Given the description of an element on the screen output the (x, y) to click on. 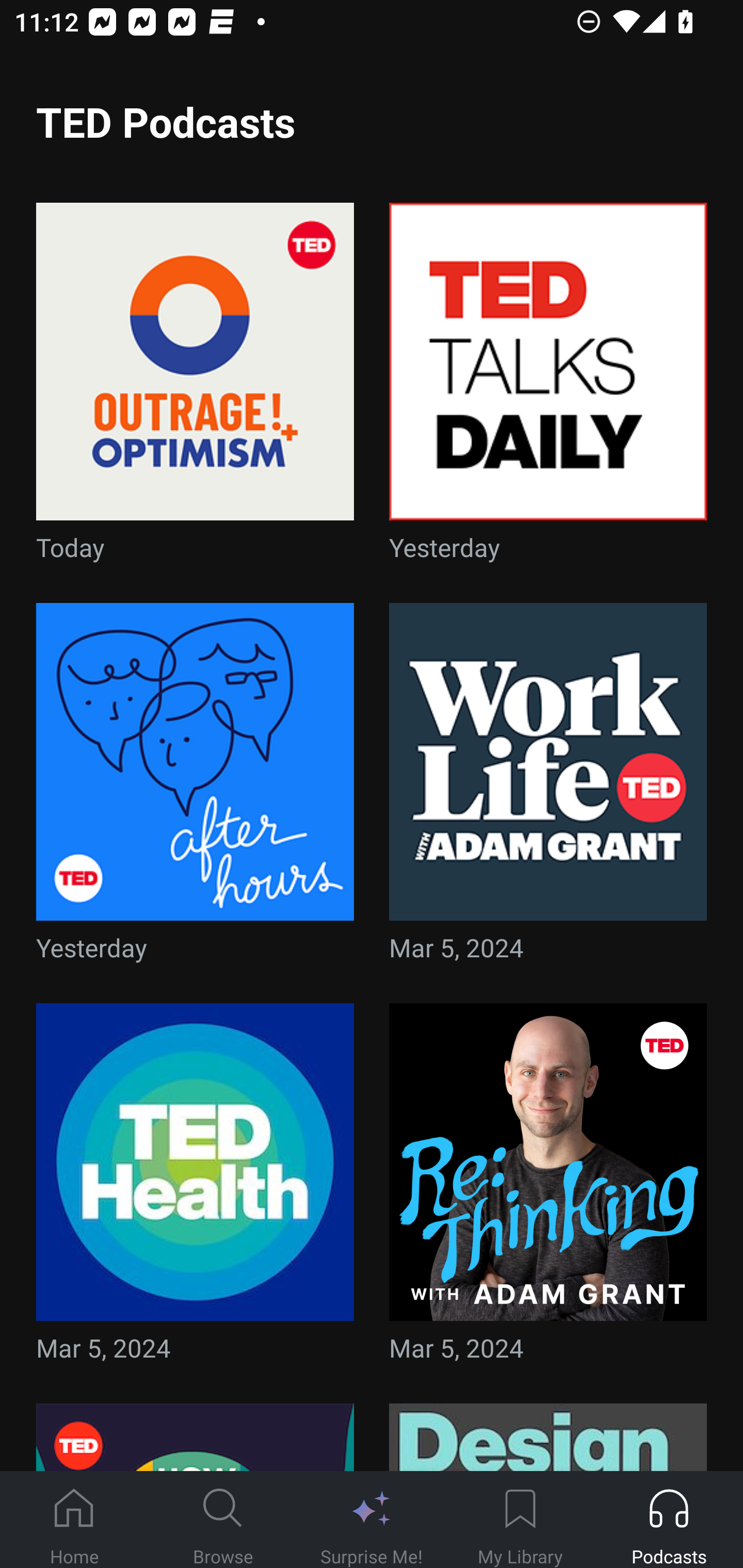
Today (194, 387)
Yesterday (547, 387)
Yesterday (194, 788)
Mar 5, 2024 (547, 788)
Mar 5, 2024 (194, 1189)
Mar 5, 2024 (547, 1189)
Home (74, 1520)
Browse (222, 1520)
Surprise Me! (371, 1520)
My Library (519, 1520)
Podcasts (668, 1520)
